Given the description of an element on the screen output the (x, y) to click on. 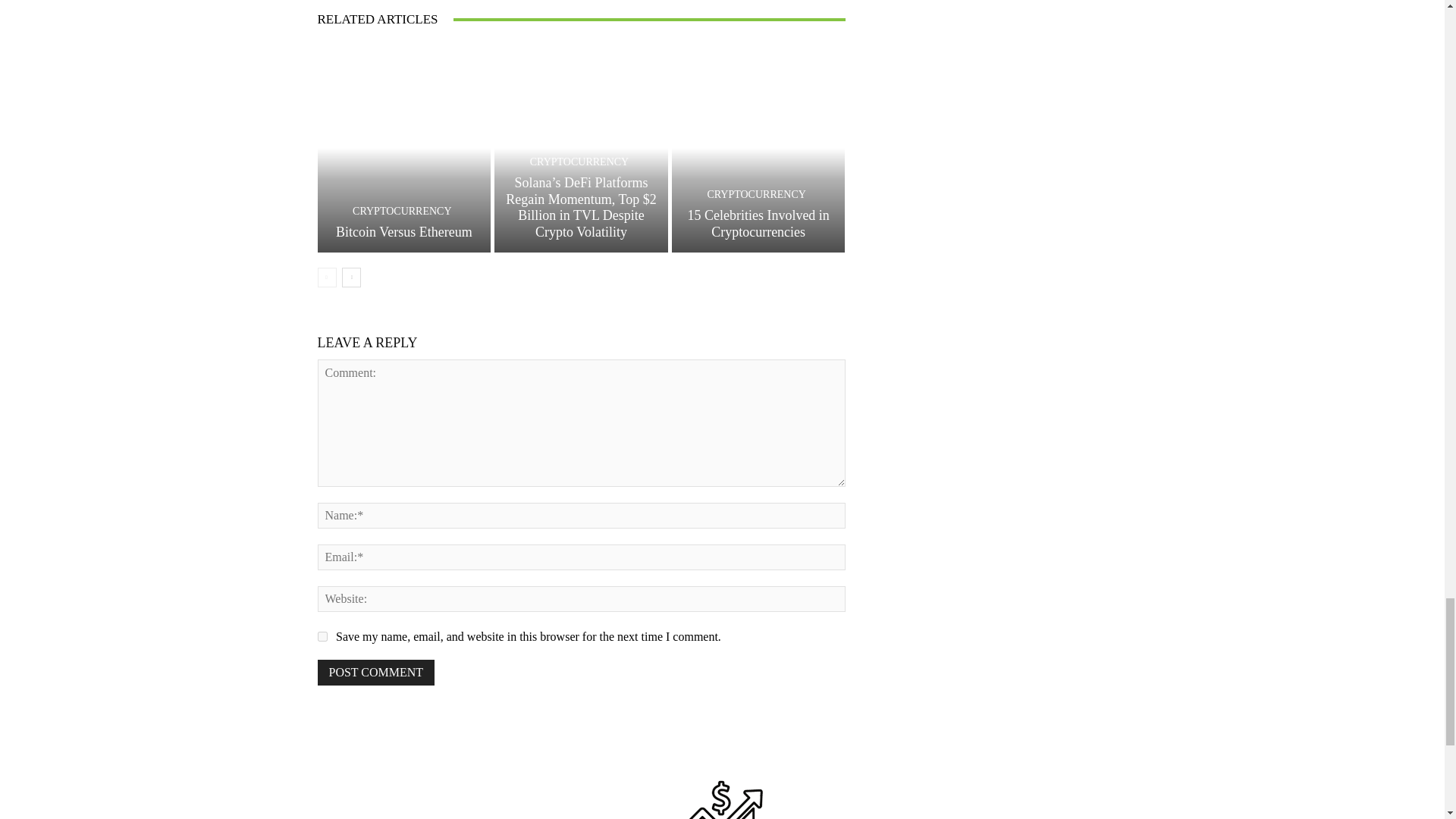
Post Comment (375, 672)
yes (321, 636)
